Given the description of an element on the screen output the (x, y) to click on. 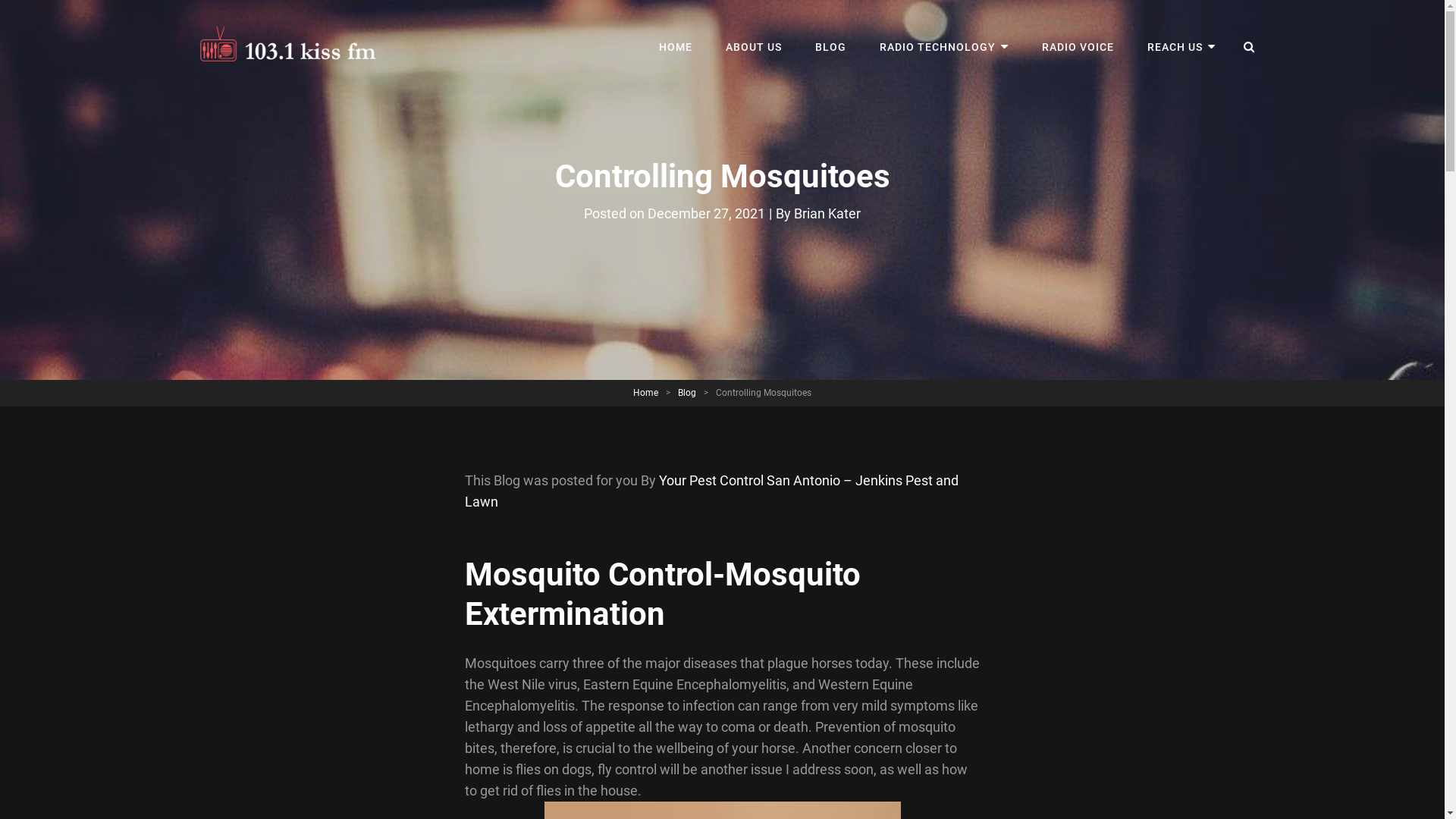
ABOUT US Element type: text (753, 46)
BLOG Element type: text (830, 46)
REACH US Element type: text (1181, 46)
RADIO VOICE Element type: text (1077, 46)
Brian Kater Element type: text (826, 213)
SEARCH Element type: text (1249, 46)
HOME Element type: text (675, 46)
RADIO TECHNOLOGY Element type: text (943, 46)
103.1 KISS FM Element type: text (471, 62)
Blog Element type: text (686, 392)
Home Element type: text (645, 392)
December 27, 2021 Element type: text (706, 213)
Mosquito Control Element type: text (588, 574)
